Given the description of an element on the screen output the (x, y) to click on. 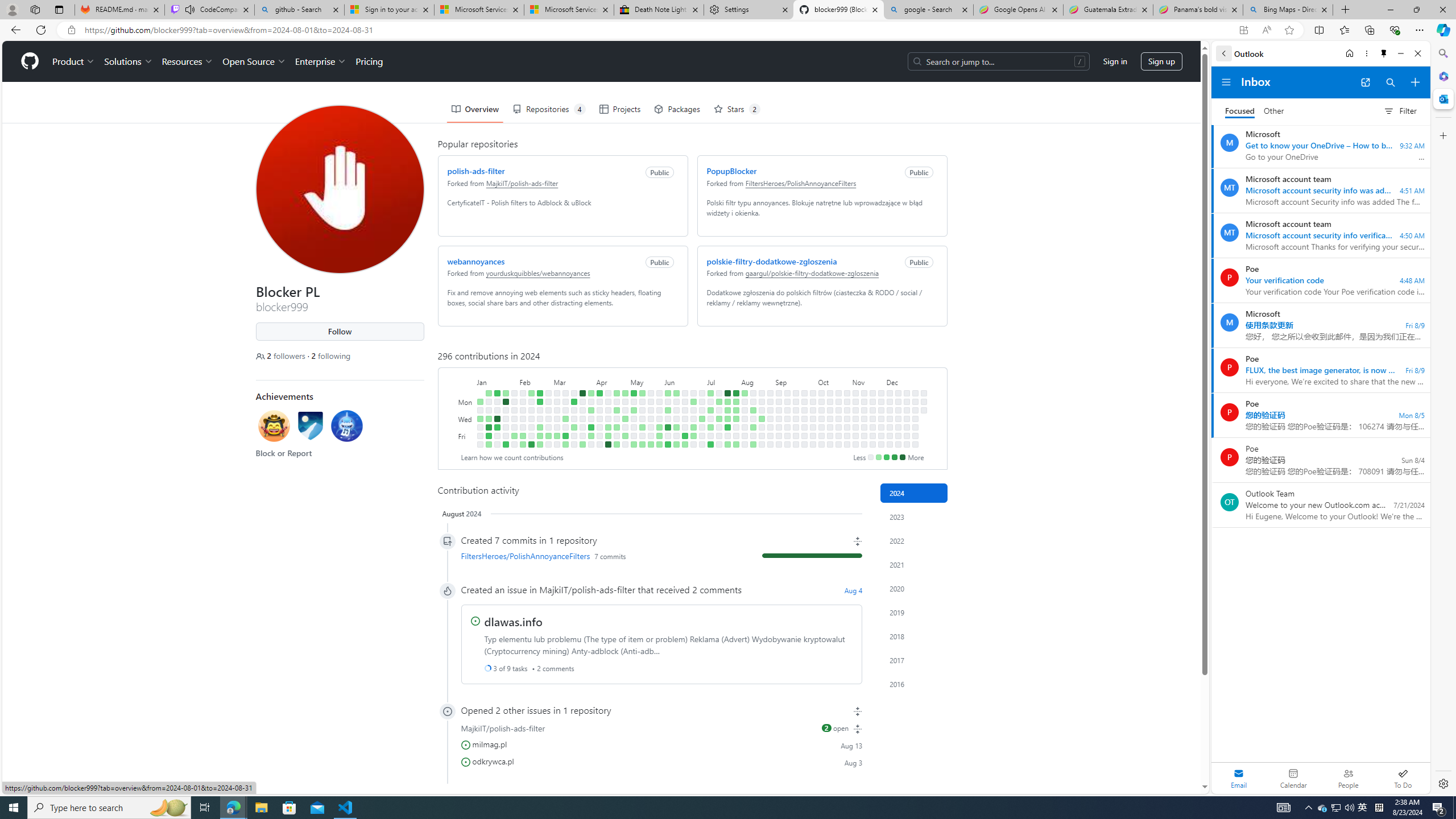
MajkiIT/polish-ads-filter 2 open (661, 728)
App available. Install GitHub (1243, 29)
People (1347, 777)
No contributions on October 28th. (846, 401)
Sign up (1161, 61)
No contributions on May 10th. (633, 435)
6 contributions on July 25th. (726, 427)
No contributions on September 30th. (812, 401)
3 contributions on June 15th. (675, 444)
1 contribution on July 30th. (735, 410)
No contributions on September 18th. (795, 418)
No contributions on July 14th. (718, 392)
No contributions on August 29th. (770, 427)
No contributions on September 23rd. (804, 401)
